Given the description of an element on the screen output the (x, y) to click on. 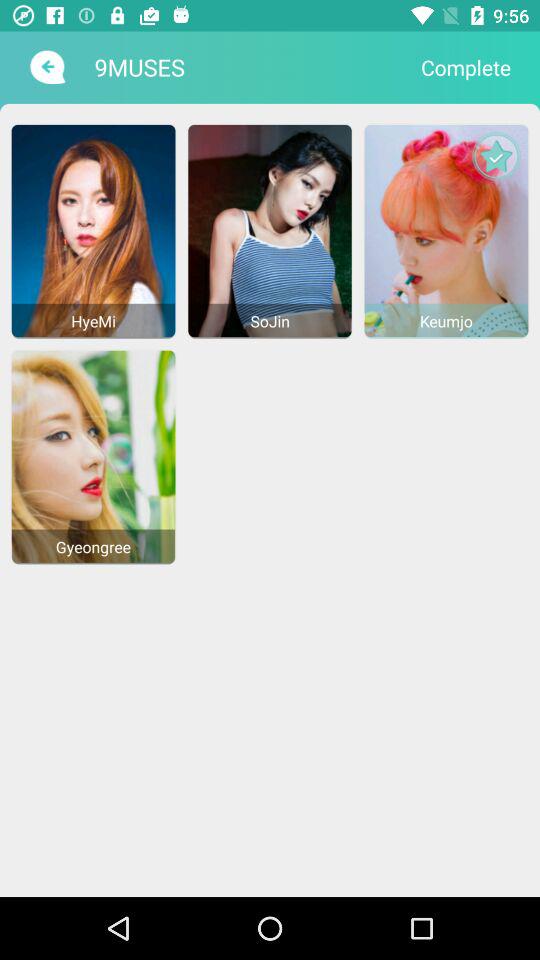
turn on icon to the left of the 9muses icon (45, 67)
